Given the description of an element on the screen output the (x, y) to click on. 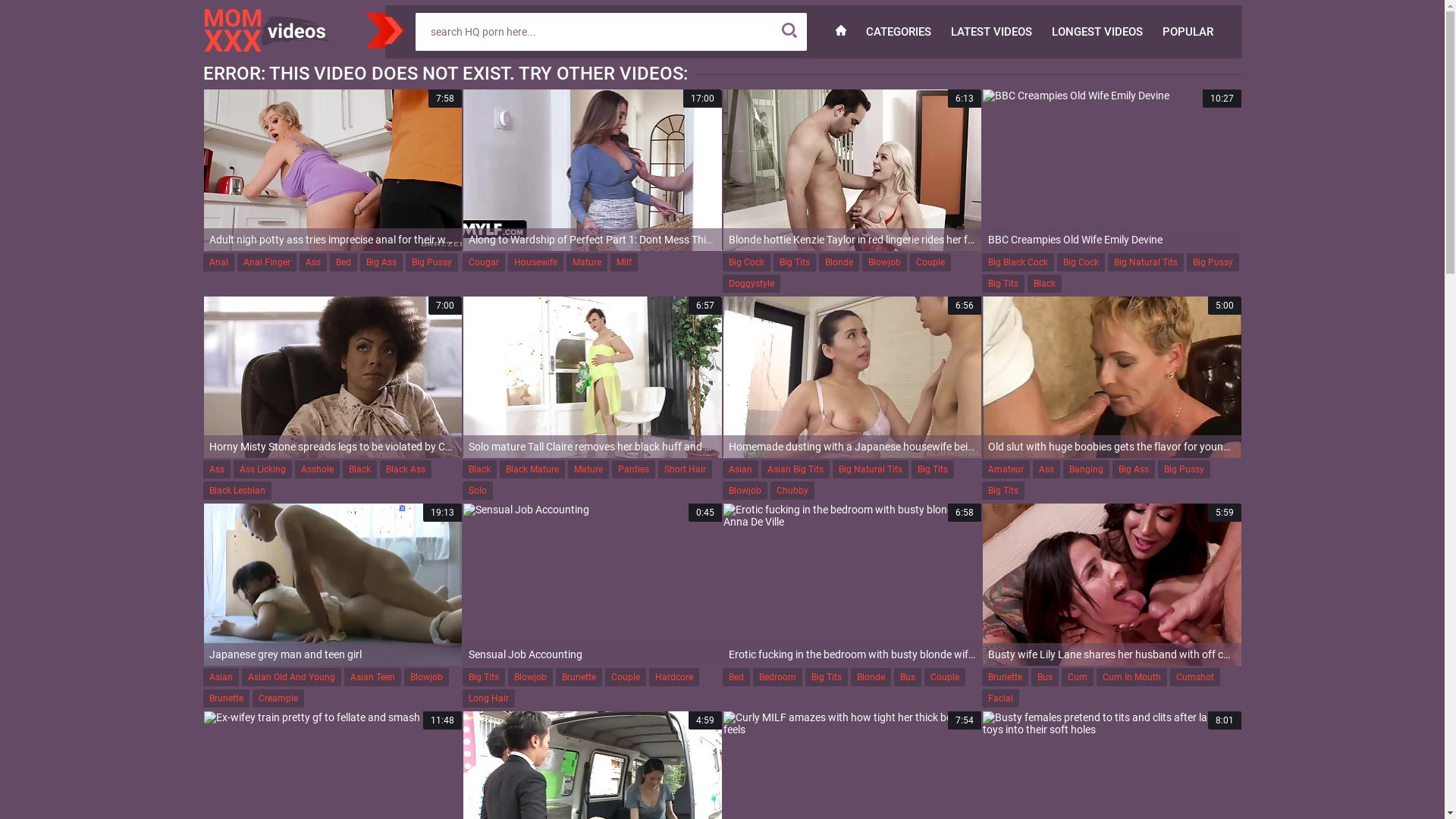
Black Element type: text (479, 469)
Big Ass Element type: text (1133, 469)
Solo Element type: text (477, 490)
Big Pussy Element type: text (430, 262)
Asian Element type: text (220, 677)
Anal Element type: text (218, 262)
Milf Element type: text (623, 262)
Mature Element type: text (587, 469)
Ass Element type: text (216, 469)
Hardcore Element type: text (674, 677)
Bed Element type: text (342, 262)
Big Pussy Element type: text (1183, 469)
CATEGORIES Element type: text (897, 31)
Couple Element type: text (625, 677)
POPULAR Element type: text (1187, 31)
Big Cock Element type: text (1080, 262)
Black Ass Element type: text (404, 469)
10:27
BBC Creampies Old Wife Emily Devine Element type: text (1111, 170)
Blowjob Element type: text (883, 262)
19:13
Japanese grey man and teen girl Element type: text (332, 584)
Black Lesbian Element type: text (237, 490)
Big Tits Element type: text (826, 677)
Amateur Element type: text (1005, 469)
Big Tits Element type: text (1003, 490)
Asshole Element type: text (316, 469)
Couple Element type: text (930, 262)
Panties Element type: text (633, 469)
Blowjob Element type: text (425, 677)
Asian Big Tits Element type: text (795, 469)
Bus Element type: text (1044, 677)
Big Pussy Element type: text (1212, 262)
Housewife Element type: text (535, 262)
Black Element type: text (359, 469)
Asian Teen Element type: text (372, 677)
Facial Element type: text (1000, 698)
Big Black Cock Element type: text (1018, 262)
Search X Videos Element type: hover (593, 31)
0:45
Sensual Job Accounting Element type: text (592, 584)
Asian Old And Young Element type: text (290, 677)
Black Element type: text (1044, 283)
Blonde Element type: text (839, 262)
Big Tits Element type: text (794, 262)
LATEST VIDEOS Element type: text (990, 31)
Long Hair Element type: text (488, 698)
Brunette Element type: text (1005, 677)
Asian Element type: text (739, 469)
Bed Element type: text (735, 677)
Big Tits Element type: text (483, 677)
Brunette Element type: text (578, 677)
Blowjob Element type: text (530, 677)
Black Mature Element type: text (531, 469)
Ass Element type: text (312, 262)
Mature Element type: text (586, 262)
Short Hair Element type: text (685, 469)
Couple Element type: text (943, 677)
Brunette Element type: text (226, 698)
Bedroom Element type: text (776, 677)
Blowjob Element type: text (743, 490)
Big Natural Tits Element type: text (870, 469)
Banging Element type: text (1086, 469)
Big Natural Tits Element type: text (1145, 262)
Anal Finger Element type: text (265, 262)
Creampie Element type: text (277, 698)
Big Ass Element type: text (380, 262)
Ass Element type: text (1046, 469)
Cougar Element type: text (483, 262)
Cum Element type: text (1077, 677)
Ass Licking Element type: text (262, 469)
Blonde Element type: text (870, 677)
Big Tits Element type: text (932, 469)
Cum In Mouth Element type: text (1131, 677)
Doggystyle Element type: text (750, 283)
Cumshot Element type: text (1195, 677)
Chubby Element type: text (792, 490)
Big Tits Element type: text (1003, 283)
Bus Element type: text (906, 677)
LONGEST VIDEOS Element type: text (1096, 31)
Big Cock Element type: text (745, 262)
